Given the description of an element on the screen output the (x, y) to click on. 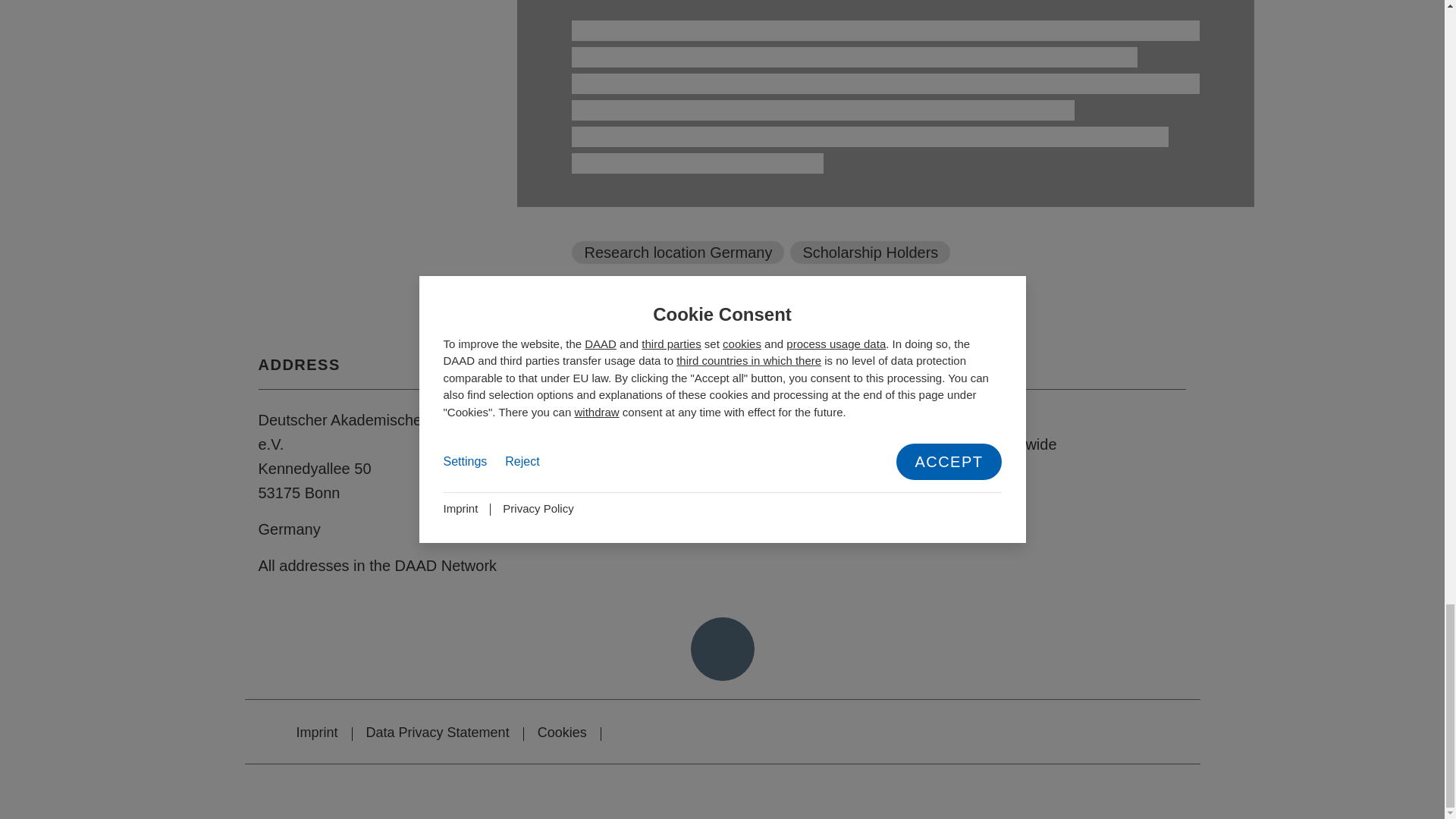
Newsletter - DAAD (639, 480)
Find Scholarships (954, 419)
DAAD offices worldwide (976, 443)
Research location Germany (678, 251)
Motto (914, 468)
Scholarship Holders (870, 251)
All addresses in the DAAD Network (376, 565)
